Given the description of an element on the screen output the (x, y) to click on. 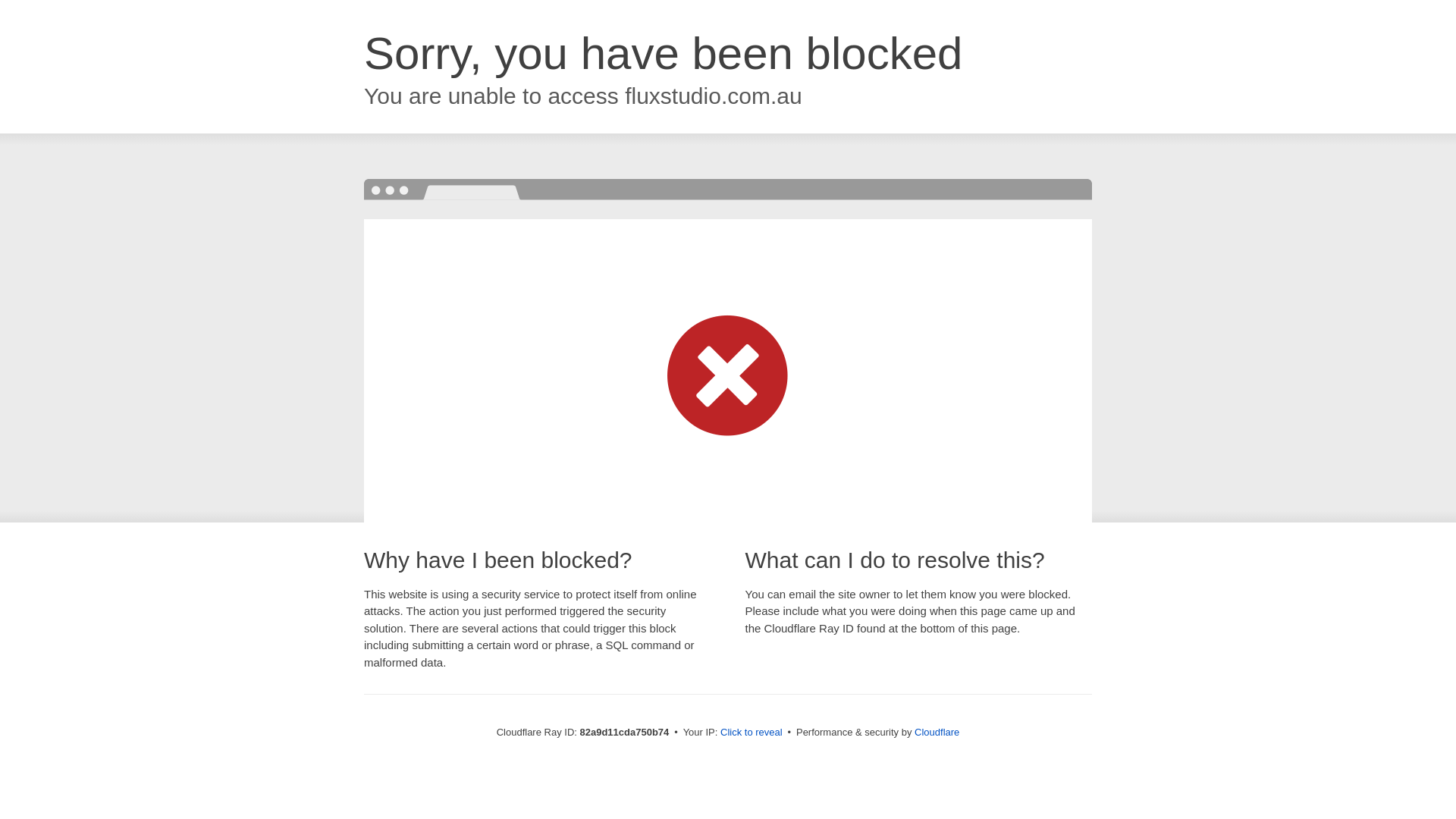
Cloudflare Element type: text (936, 731)
Click to reveal Element type: text (751, 732)
